Given the description of an element on the screen output the (x, y) to click on. 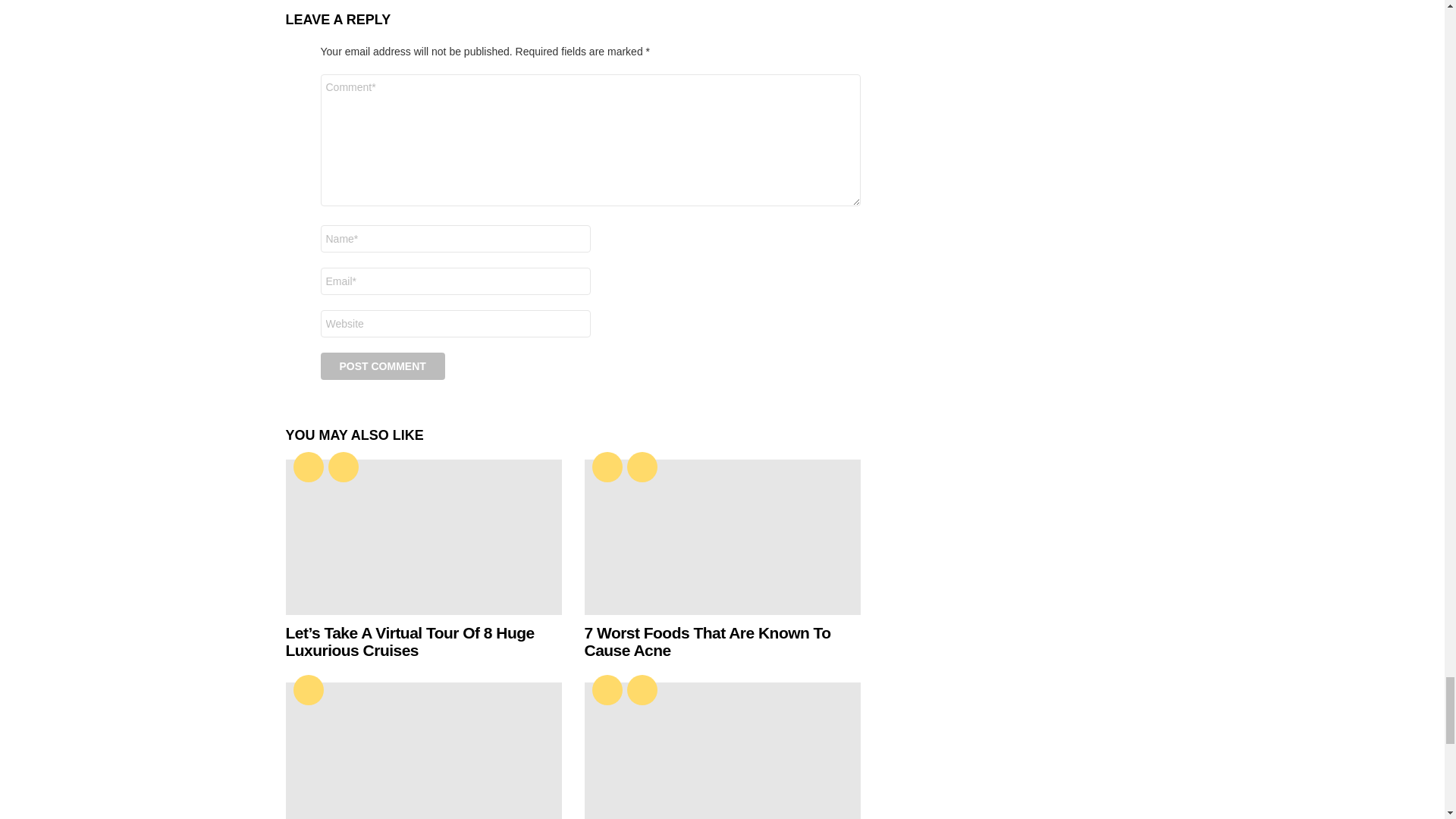
Love (307, 467)
Post Comment (382, 366)
LOL (342, 467)
7 Worst Foods That Are Known To Cause Acne (721, 537)
